Given the description of an element on the screen output the (x, y) to click on. 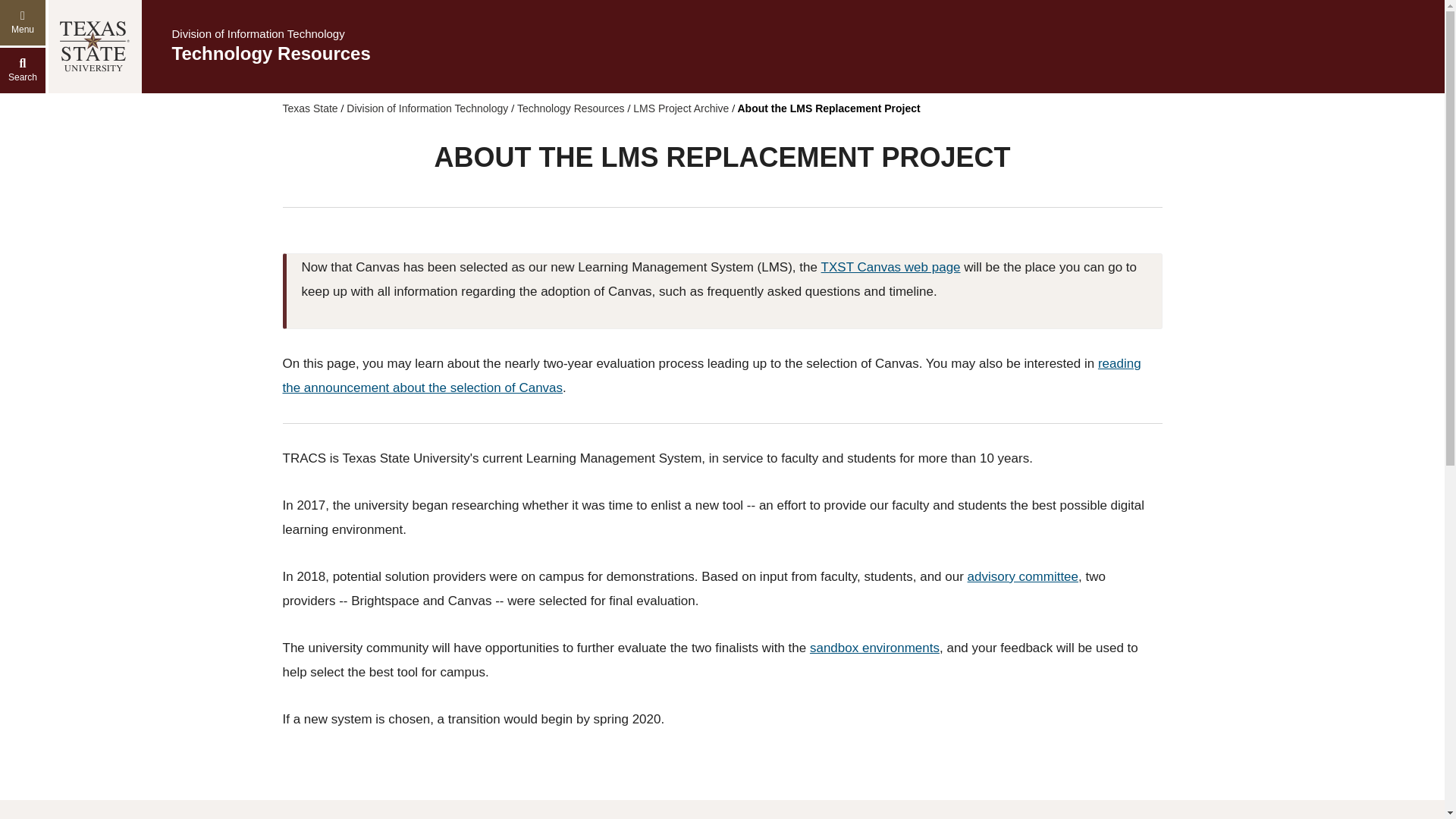
advisory committee (1022, 576)
Division of Information Technology (257, 33)
Technology Resources (570, 107)
reading the announcement about the selection of Canvas (711, 374)
Texas State (309, 107)
sandbox environments (875, 647)
Search (22, 70)
TXST Canvas web page (890, 267)
LMS Project Archive (681, 107)
Technology Resources (270, 53)
Division of Information Technology (427, 107)
